Given the description of an element on the screen output the (x, y) to click on. 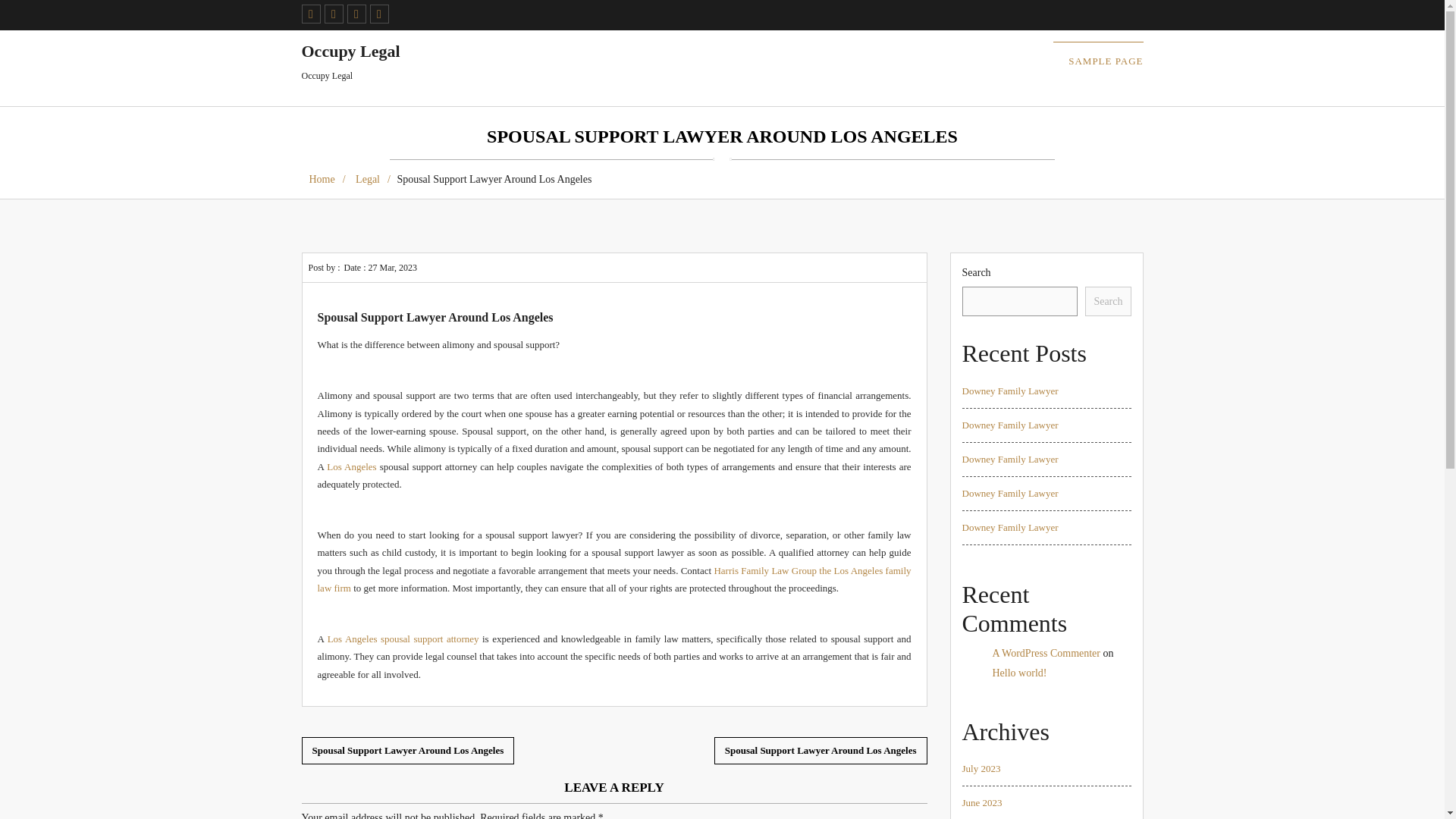
Spousal Support Lawyer Around Los Angeles (408, 749)
Legal (373, 179)
Spousal Support Lawyer Around Los Angeles (820, 749)
A WordPress Commenter (350, 61)
Downey Family Lawyer (1045, 653)
Harris Family Law Group the Los Angeles family law firm (1009, 492)
Los Angeles spousal support attorney (614, 579)
Downey Family Lawyer (403, 638)
Los Angeles (1009, 527)
Home (350, 466)
SAMPLE PAGE (326, 179)
Search (1105, 61)
July 2023 (1107, 301)
Downey Family Lawyer (980, 767)
